Given the description of an element on the screen output the (x, y) to click on. 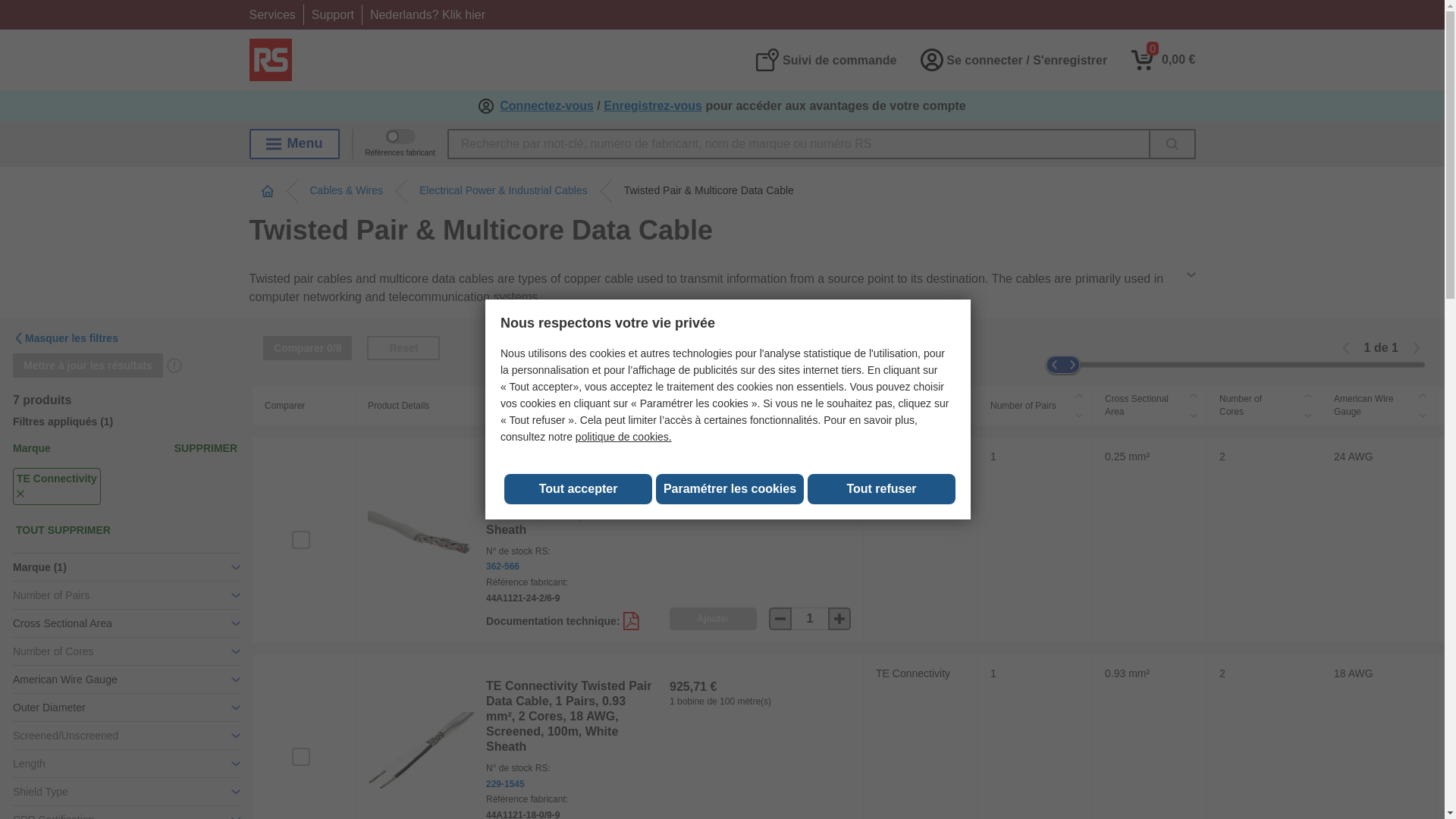
Tri croissant (964, 395)
Enregistrez-vous (652, 105)
Tri croissant (1307, 395)
Tri croissant (1078, 395)
on (299, 756)
0 (1163, 59)
1 (810, 618)
Support (332, 14)
Nederlands? Klik hier (426, 14)
Tri croissant (1422, 395)
Services (271, 14)
Connectez-vous (546, 105)
on (299, 539)
Suivi de commande (825, 59)
Menu (293, 143)
